Given the description of an element on the screen output the (x, y) to click on. 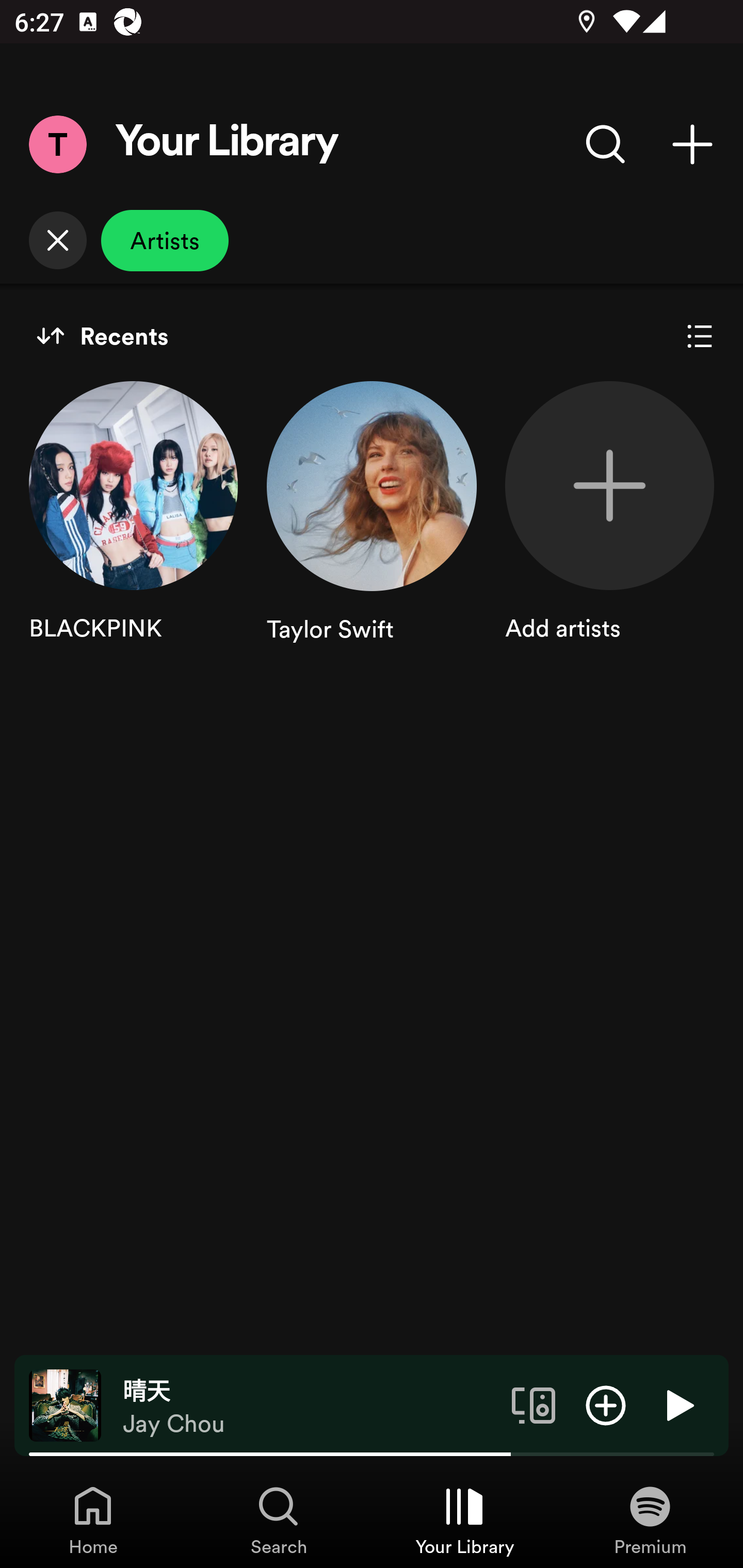
Menu (57, 144)
Search Your Library (605, 144)
Create playlist (692, 144)
Your Library Your Library Heading (226, 144)
Clear Filters (57, 240)
Artists, show only artists. (164, 240)
Recents (101, 336)
Show List view (699, 336)
BLACKPINK,  BLACKPINK (132, 531)
Taylor Swift,  Taylor Swift (371, 531)
Add artists,  Add artists (609, 531)
晴天 Jay Chou (309, 1405)
The cover art of the currently playing track (64, 1404)
Connect to a device. Opens the devices menu (533, 1404)
Add item (605, 1404)
Play (677, 1404)
Home, Tab 1 of 4 Home Home (92, 1519)
Search, Tab 2 of 4 Search Search (278, 1519)
Your Library, Tab 3 of 4 Your Library Your Library (464, 1519)
Premium, Tab 4 of 4 Premium Premium (650, 1519)
